Given the description of an element on the screen output the (x, y) to click on. 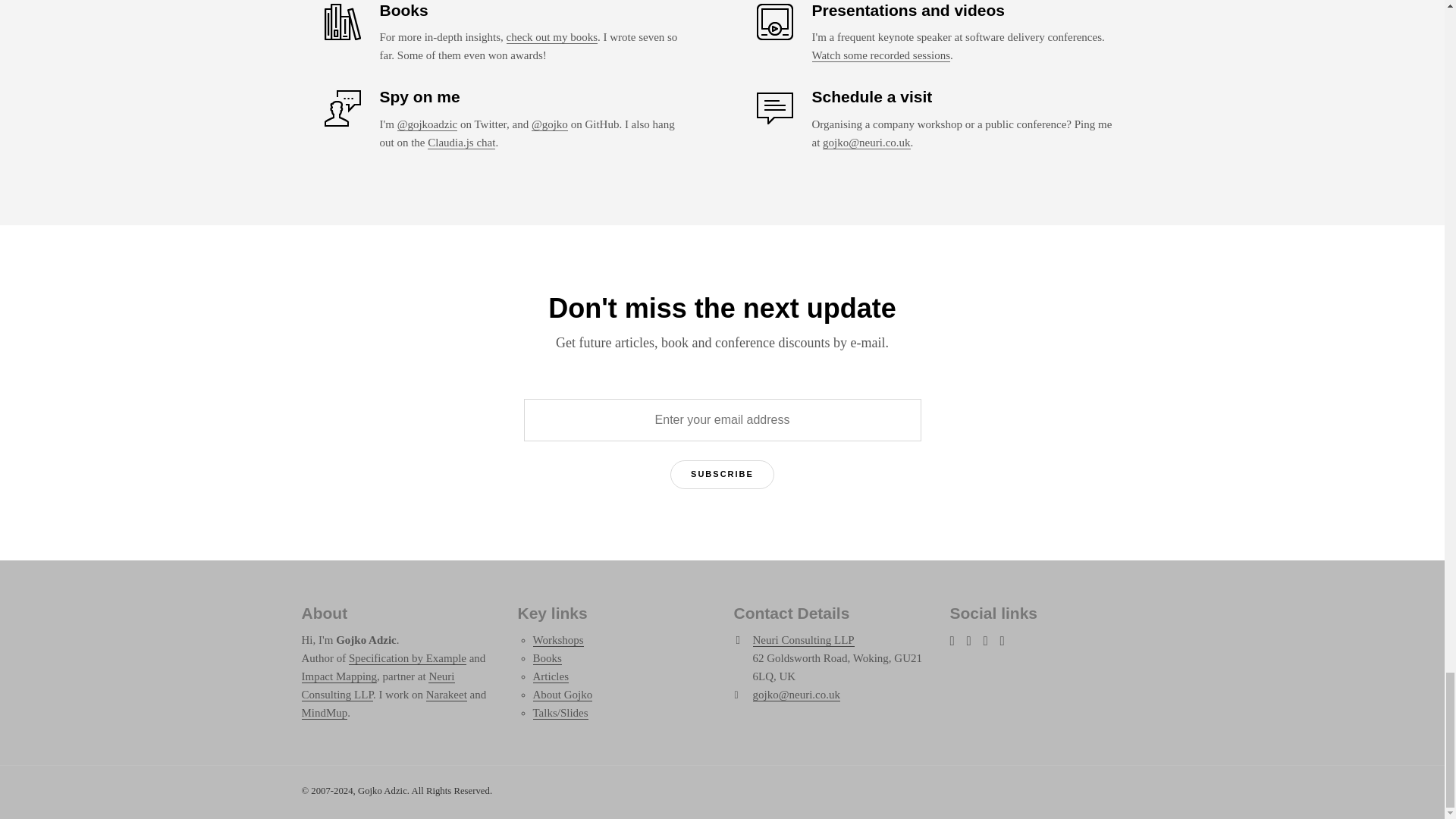
Subscribe (721, 474)
